Given the description of an element on the screen output the (x, y) to click on. 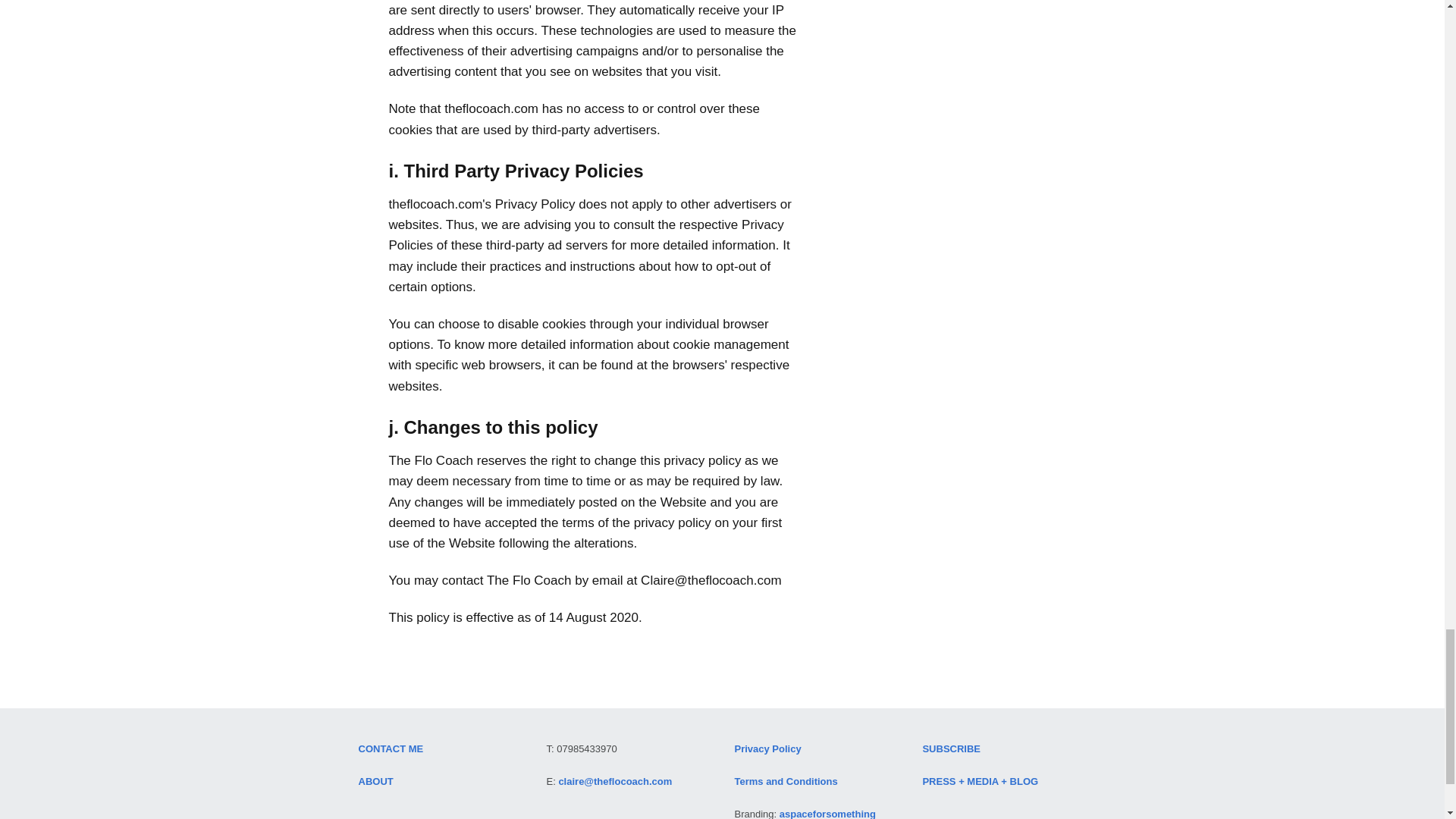
SUBSCRIBE (950, 748)
ABOUT (375, 781)
CONTACT ME (390, 748)
aspaceforsomething (827, 813)
Privacy Policy (766, 748)
Terms and Conditions (785, 781)
